Given the description of an element on the screen output the (x, y) to click on. 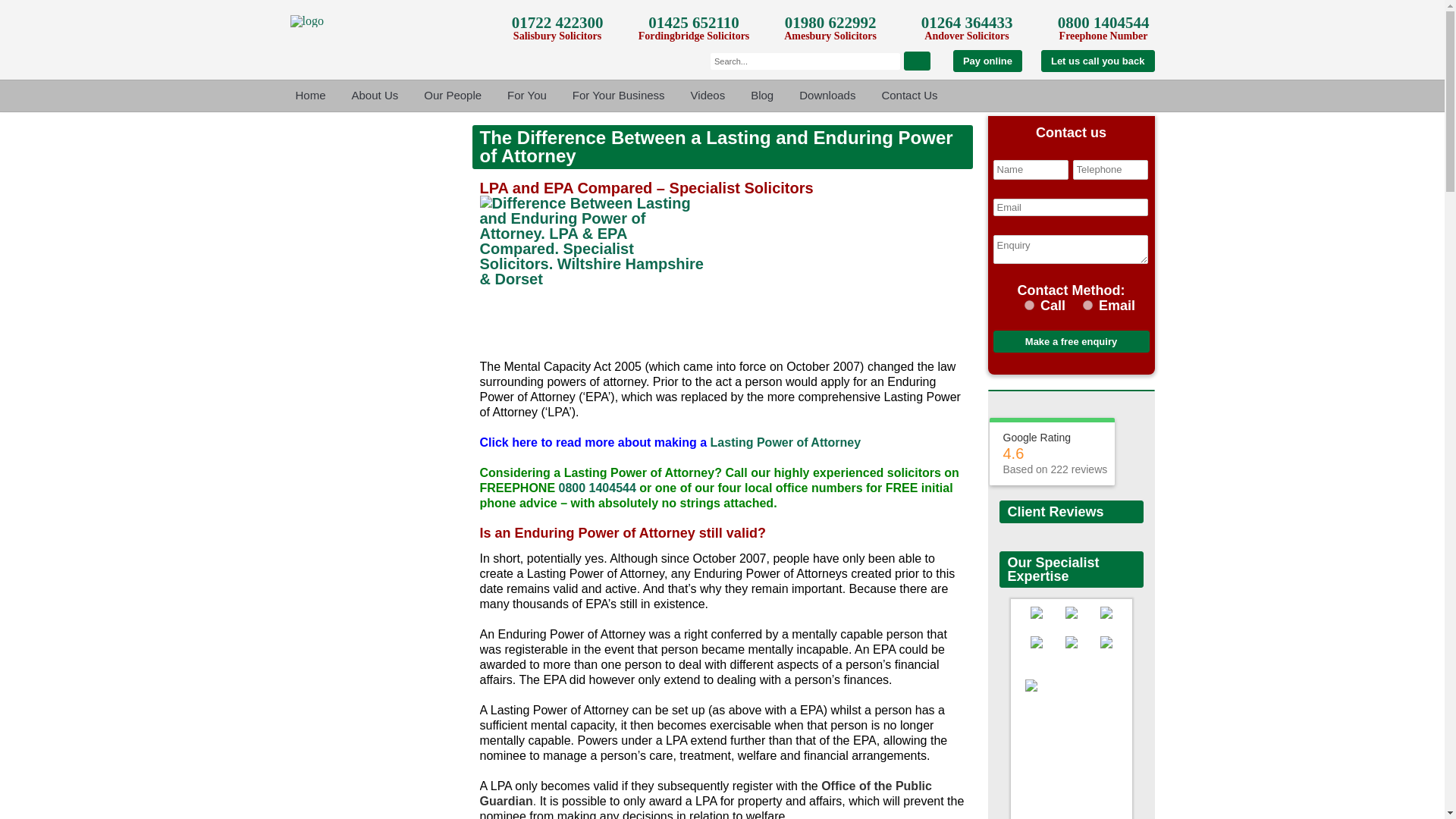
01980 622992 (830, 22)
Call (1029, 305)
01425 652110 (693, 22)
0800 1404544 (1104, 22)
01264 364433 (967, 22)
About Us (375, 95)
Let us call you back (1097, 60)
01722 422300 (558, 22)
Pay online (987, 60)
Email (1088, 305)
